Given the description of an element on the screen output the (x, y) to click on. 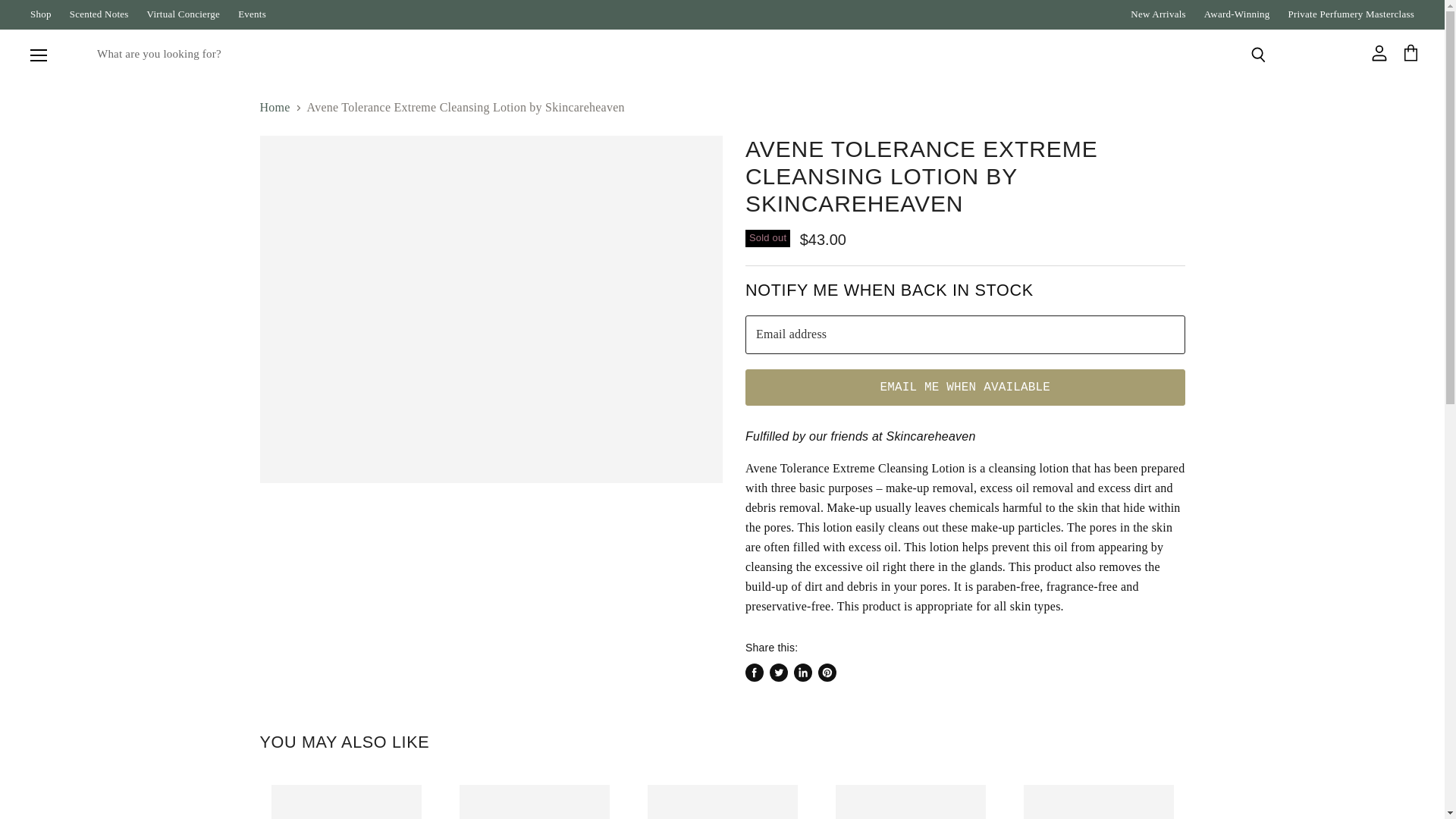
Shop (40, 14)
Events (252, 14)
Menu (39, 54)
Award-Winning (1236, 14)
New Arrivals (1158, 14)
Virtual Concierge (184, 14)
Private Perfumery Masterclass (1350, 14)
Scented Notes (99, 14)
